Given the description of an element on the screen output the (x, y) to click on. 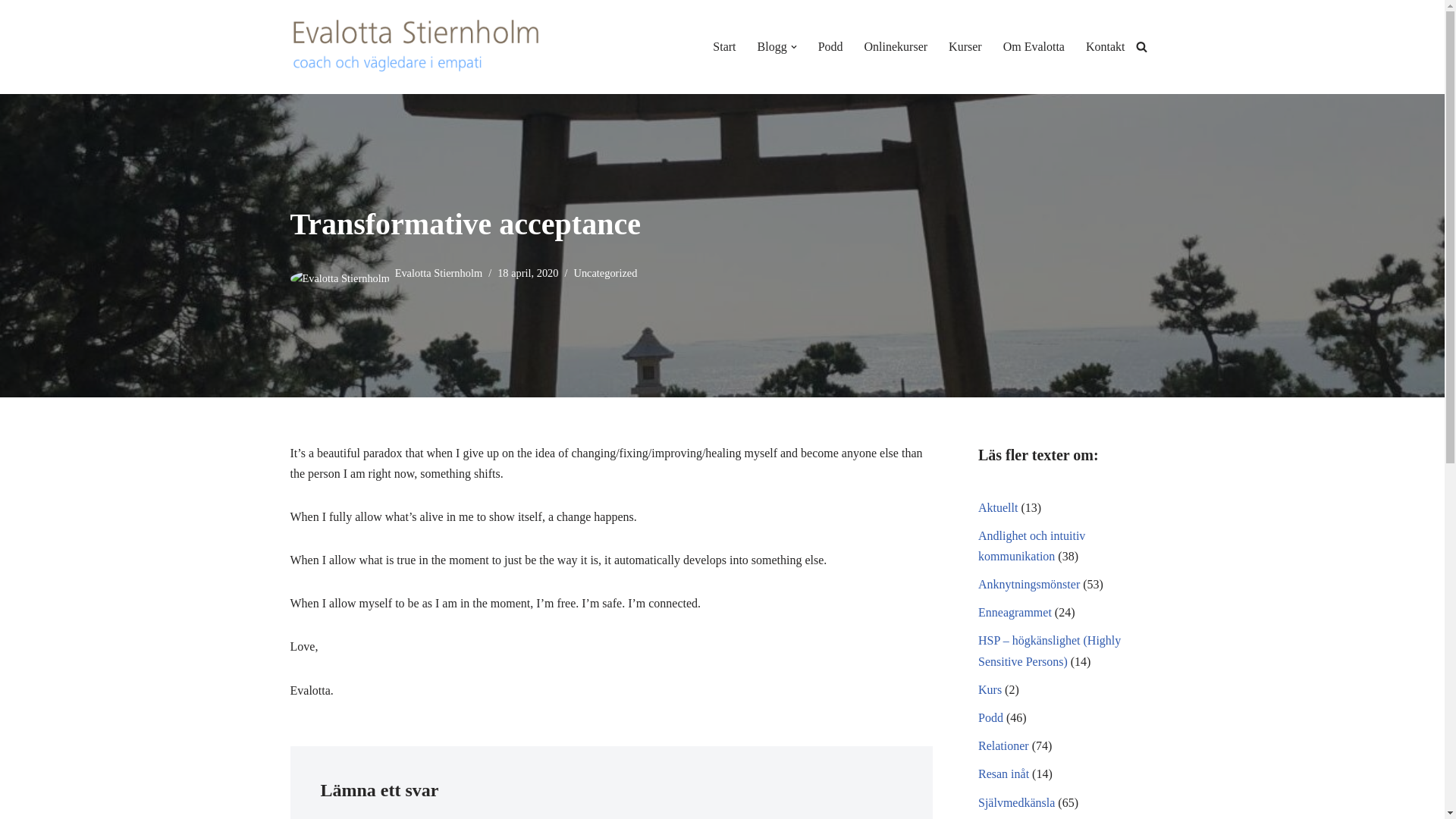
Podd (830, 46)
Onlinekurser (896, 46)
Om Evalotta (1033, 46)
Kurser (965, 46)
Kontakt (1105, 46)
Blogg (772, 46)
Start (724, 46)
